Given the description of an element on the screen output the (x, y) to click on. 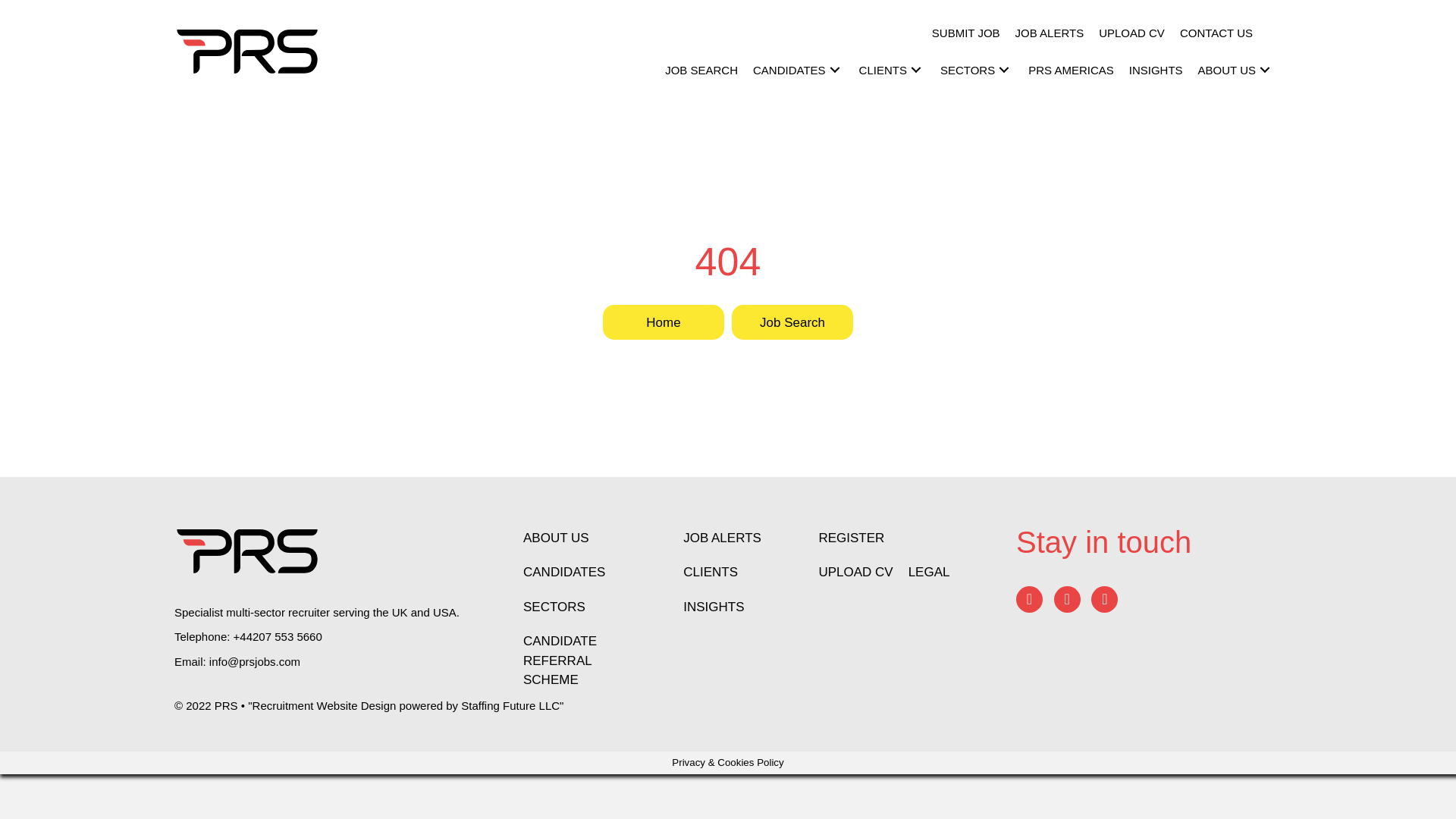
PRS logo (247, 51)
SUBMIT JOB (965, 32)
PRS logo (247, 551)
CONTACT US (1216, 32)
JOB ALERTS (1049, 32)
UPLOAD CV (1131, 32)
